Given the description of an element on the screen output the (x, y) to click on. 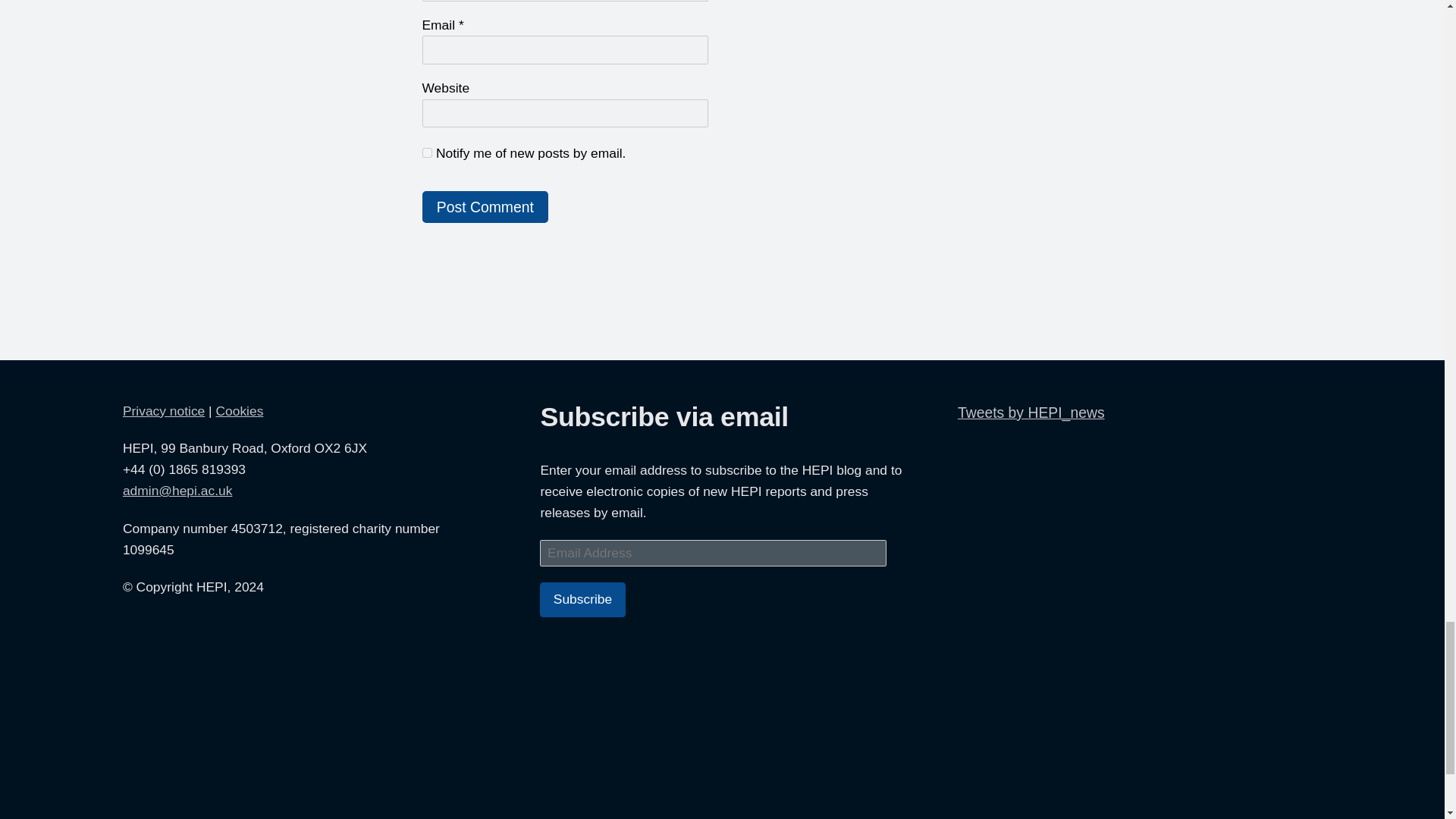
Post Comment (485, 206)
Subscribe (582, 599)
Email us (176, 490)
subscribe (426, 153)
Privacy notice (163, 410)
Post Comment (485, 206)
Cookies (239, 410)
